Given the description of an element on the screen output the (x, y) to click on. 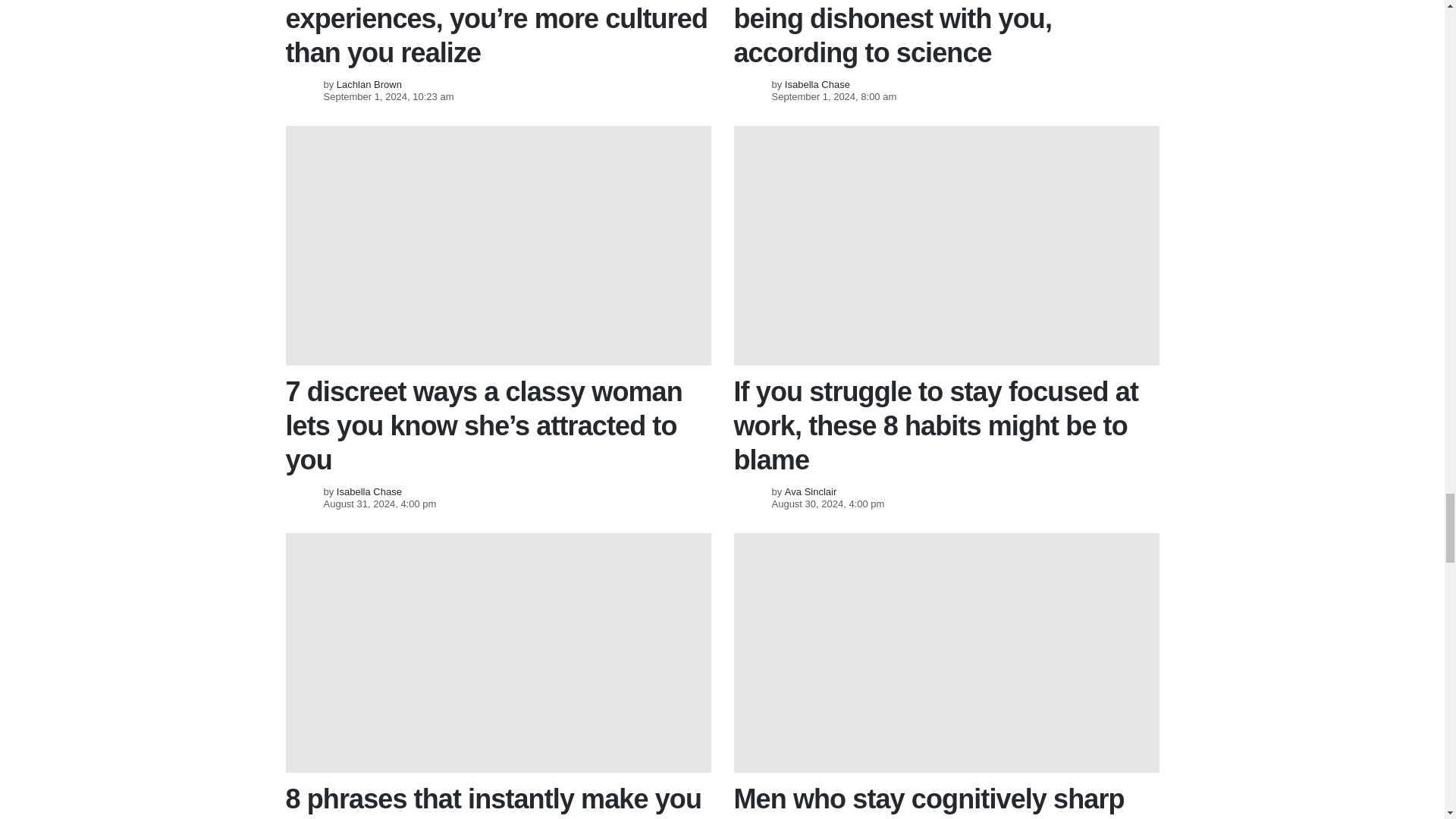
Posts by Isabella Chase (368, 491)
Posts by Ava Sinclair (809, 491)
Posts by Lachlan Brown (368, 84)
Posts by Isabella Chase (817, 84)
